Given the description of an element on the screen output the (x, y) to click on. 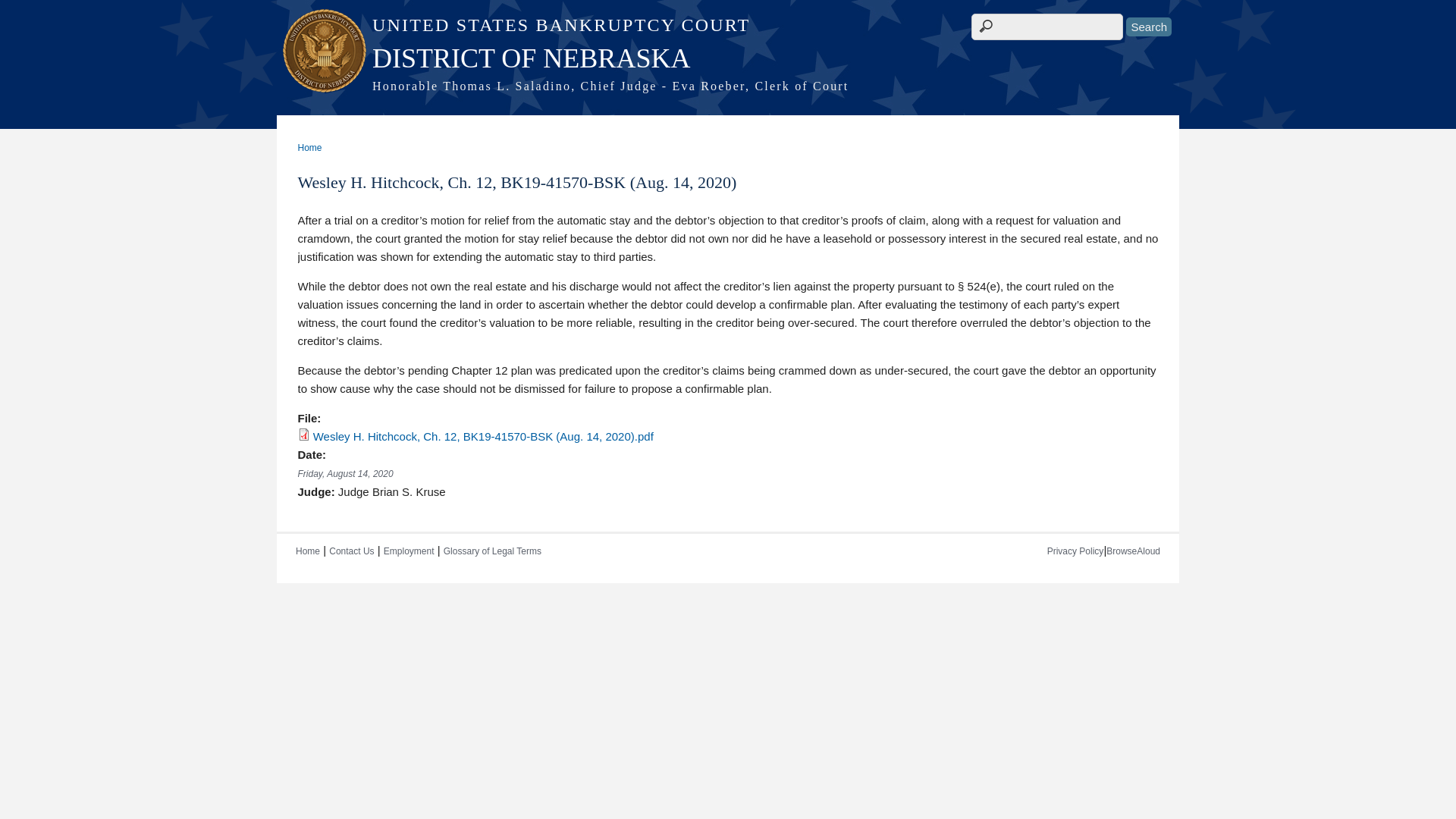
Home (727, 25)
Enter the terms you wish to search for. (1046, 26)
Search (1148, 26)
Search (1148, 26)
DISTRICT OF NEBRASKA (727, 57)
UNITED STATES BANKRUPTCY COURT (727, 25)
Home (727, 57)
Home (727, 86)
